Given the description of an element on the screen output the (x, y) to click on. 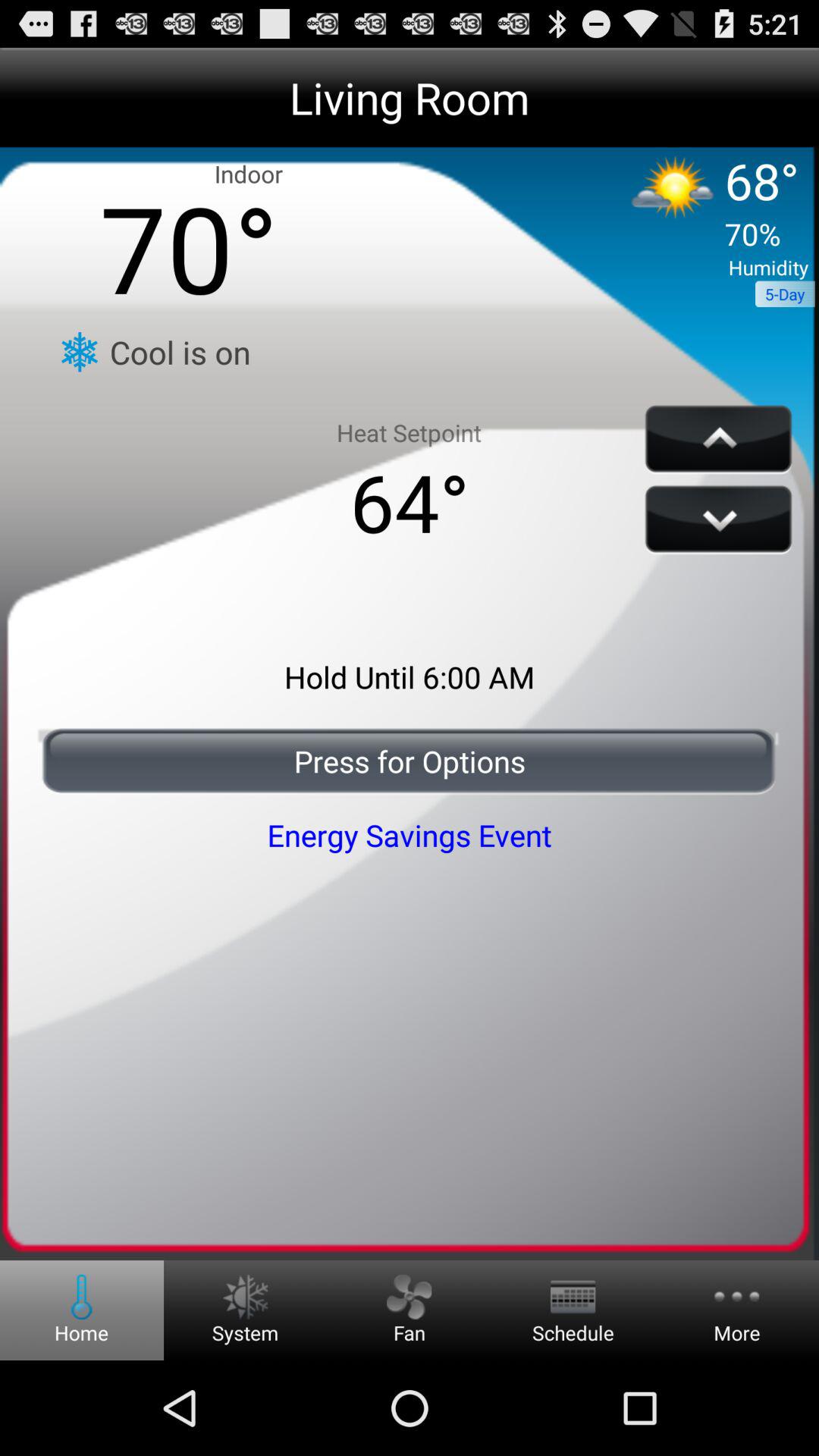
turn off press for options icon (409, 761)
